Given the description of an element on the screen output the (x, y) to click on. 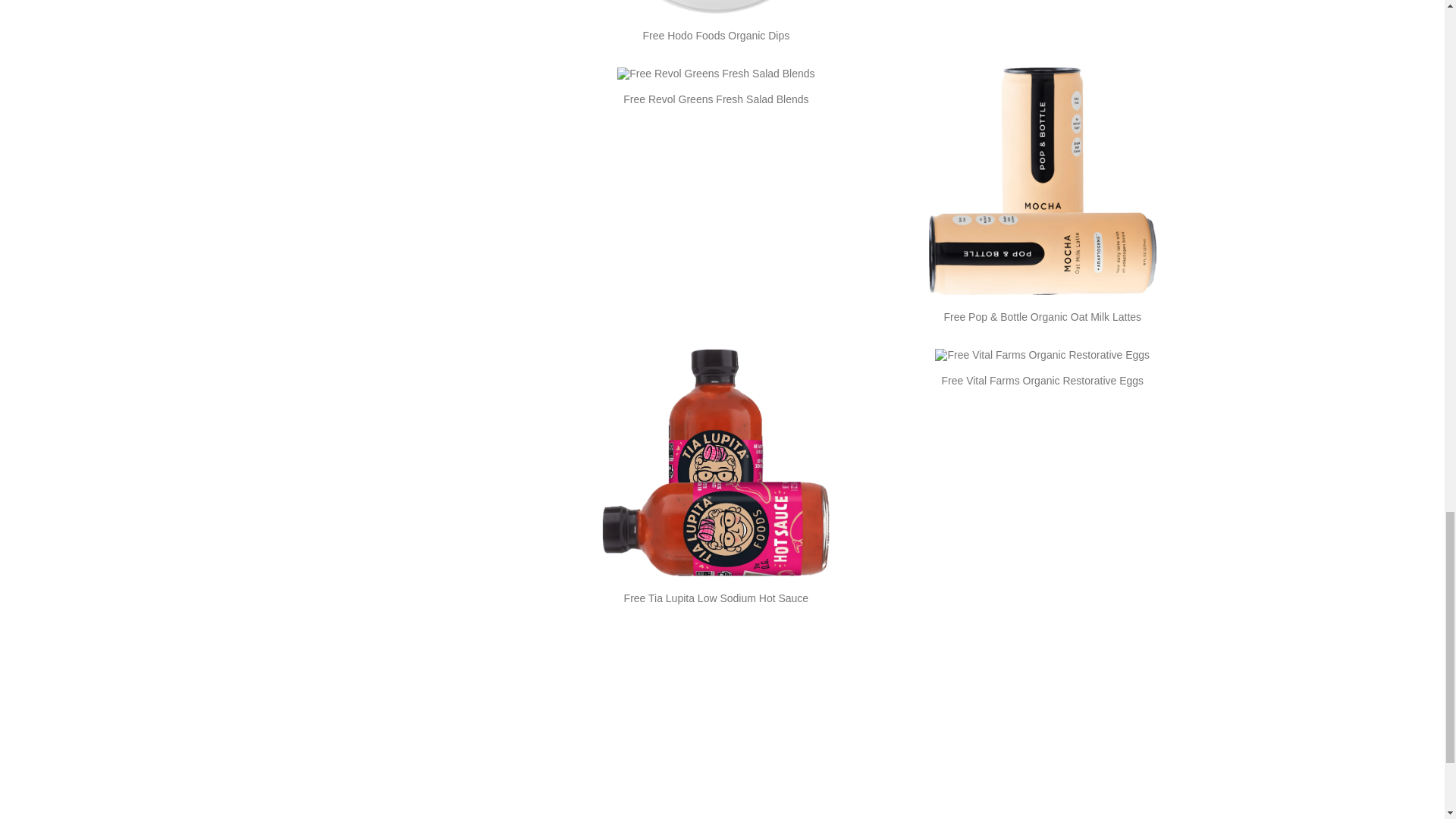
Free Hodo Foods Organic Dips (715, 35)
Free Vital Farms Organic Restorative Eggs (1041, 380)
Free Tia Lupita Low Sodium Hot Sauce (716, 598)
Free Revol Greens Fresh Salad Blends (715, 99)
